Given the description of an element on the screen output the (x, y) to click on. 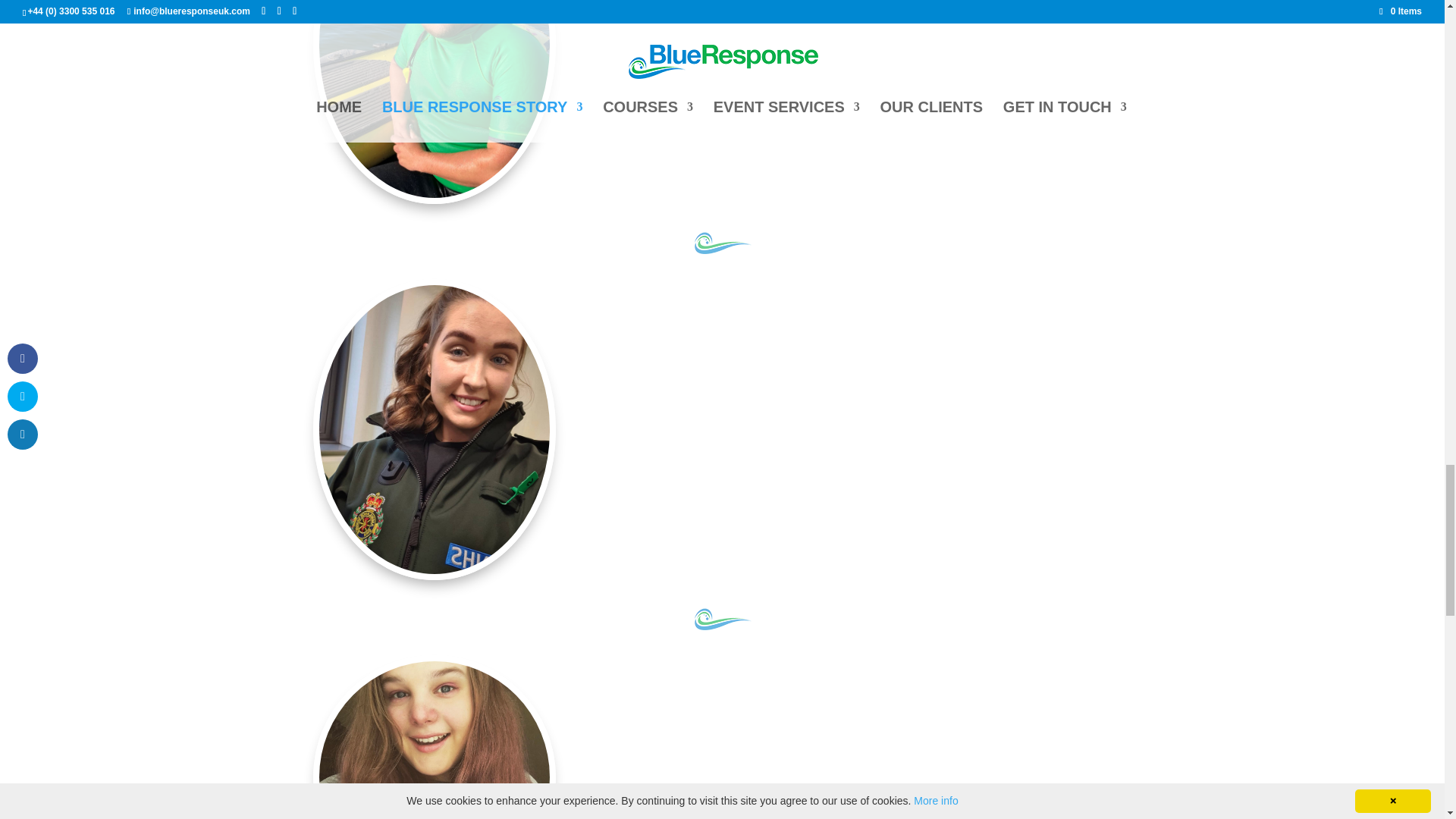
Dom resize (433, 99)
Kasey (433, 739)
